Given the description of an element on the screen output the (x, y) to click on. 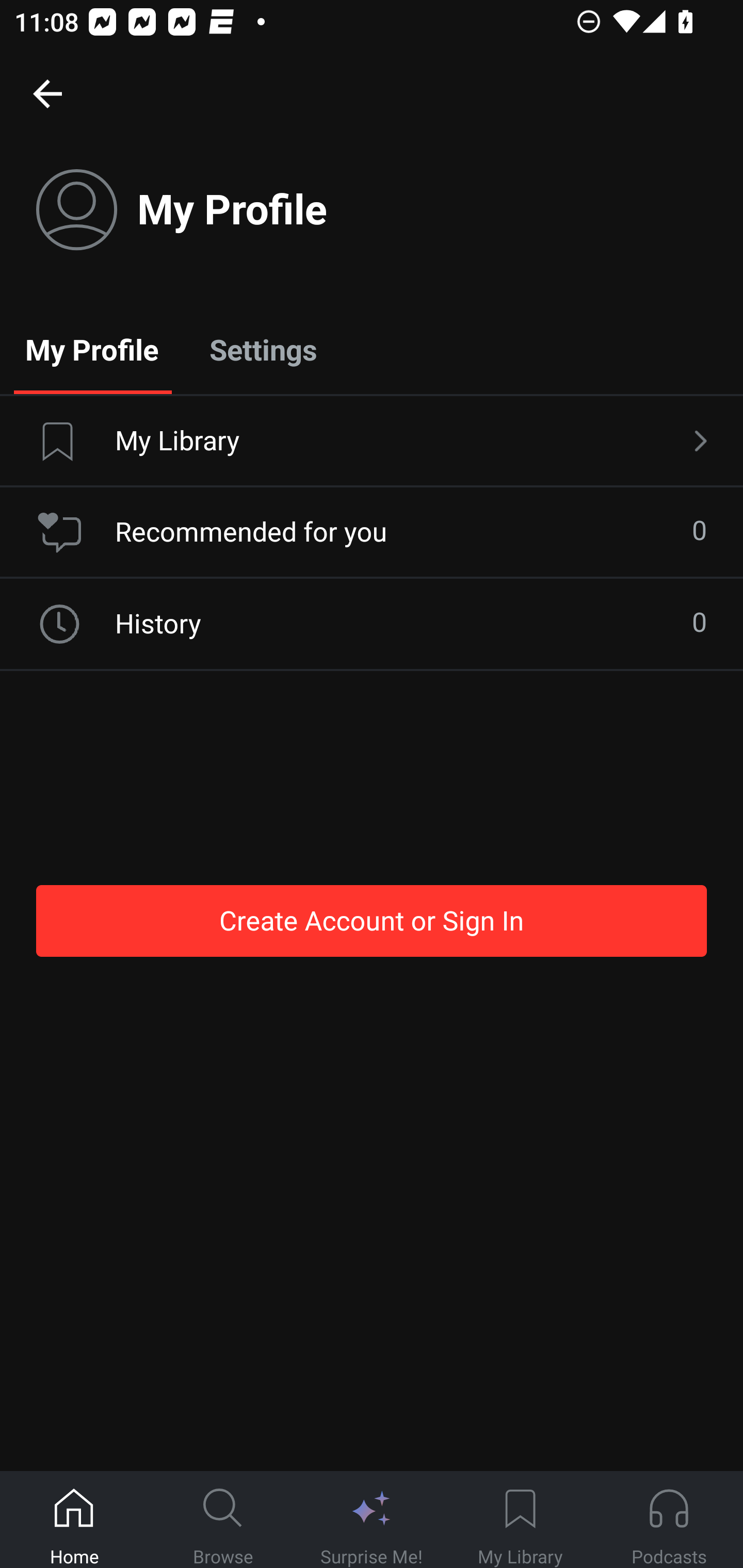
Home, back (47, 92)
My Profile (92, 348)
Settings (263, 348)
My Library (371, 441)
Recommended for you 0 (371, 532)
History 0 (371, 623)
Create Account or Sign In (371, 920)
Home (74, 1520)
Browse (222, 1520)
Surprise Me! (371, 1520)
My Library (519, 1520)
Podcasts (668, 1520)
